Given the description of an element on the screen output the (x, y) to click on. 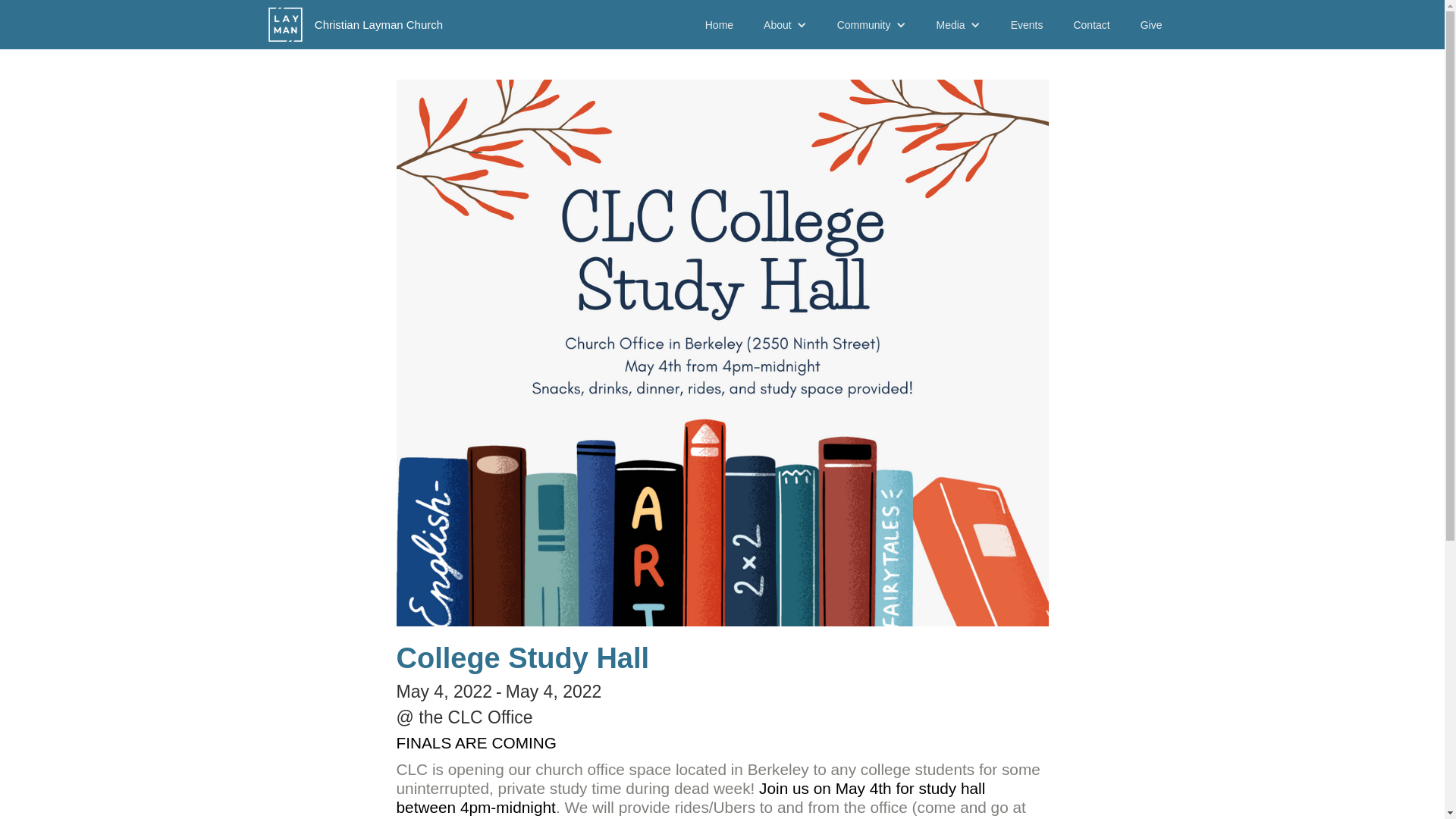
Events (1026, 23)
Home (719, 23)
Contact (1091, 23)
Give (1151, 23)
